Given the description of an element on the screen output the (x, y) to click on. 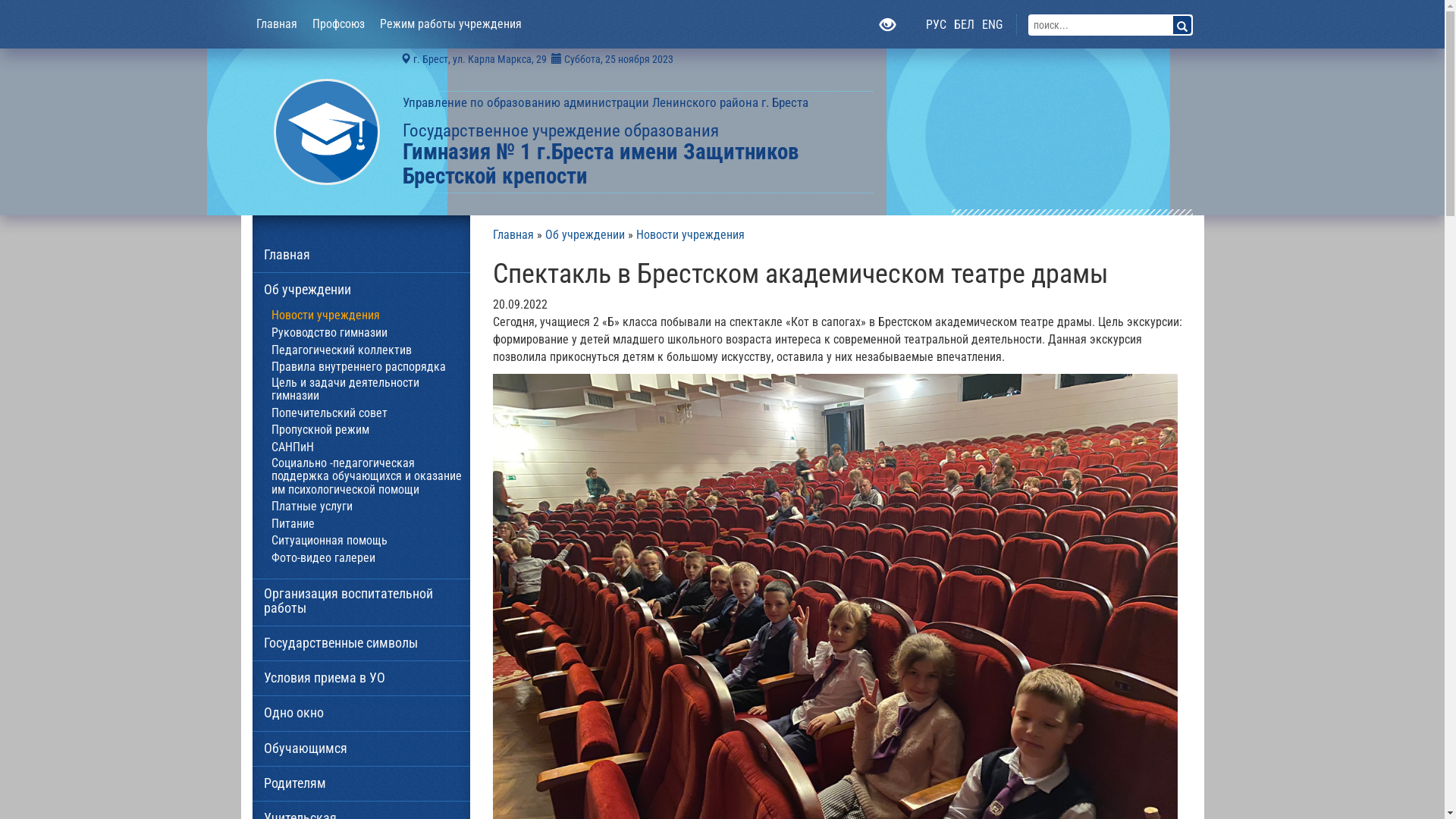
ENG Element type: text (991, 24)
